Given the description of an element on the screen output the (x, y) to click on. 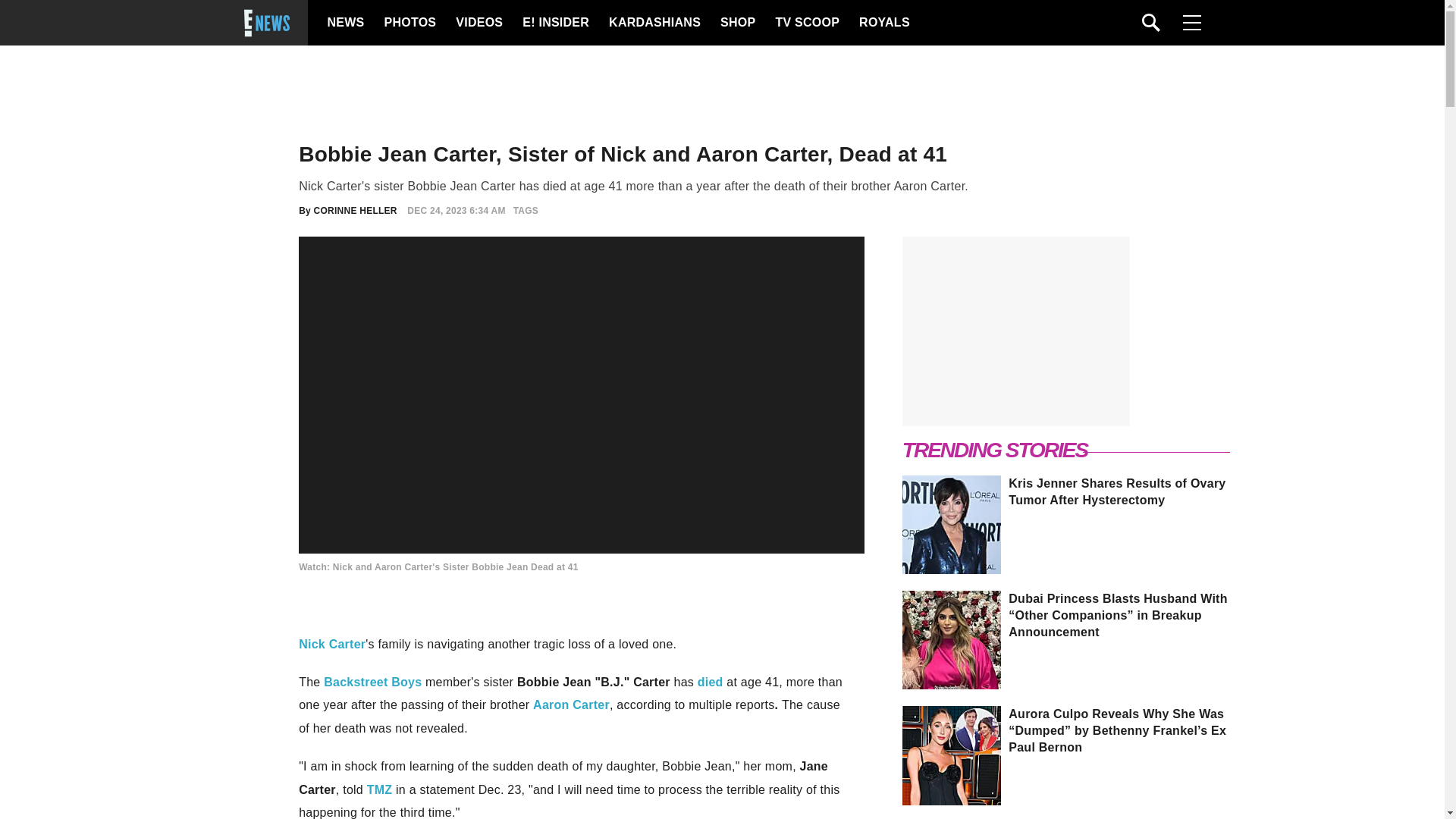
CORINNE HELLER (355, 210)
ROYALS (883, 22)
Carter (589, 704)
NEWS (345, 22)
SHOP (737, 22)
Backstreet Boys (372, 681)
Kris Jenner Shares Results of Ovary Tumor After Hysterectomy (1066, 491)
Aaron (550, 704)
died (710, 681)
VIDEOS (478, 22)
Nick Carter (331, 644)
PHOTOS (408, 22)
TMZ (379, 789)
E! INSIDER (555, 22)
KARDASHIANS (653, 22)
